Given the description of an element on the screen output the (x, y) to click on. 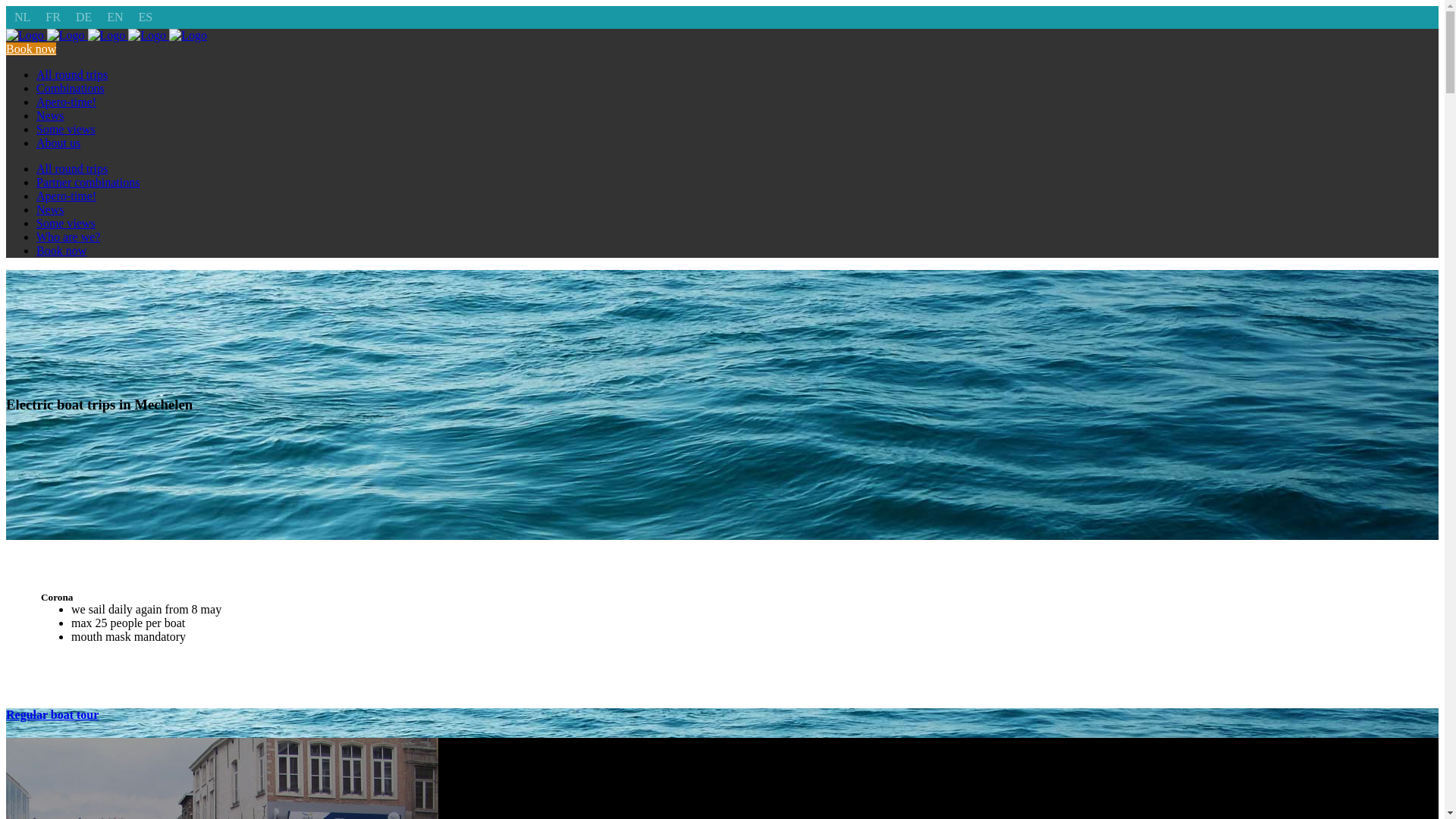
Some views Element type: text (65, 222)
Who are we? Element type: text (68, 236)
Some views Element type: text (65, 128)
About us Element type: text (58, 142)
News Element type: text (49, 115)
News Element type: text (49, 209)
Apero-time! Element type: text (66, 101)
Apero-time! Element type: text (66, 195)
Regular boat tour Element type: text (52, 714)
All round trips Element type: text (71, 74)
Book now Element type: text (61, 250)
EN Element type: text (114, 17)
DE Element type: text (83, 17)
Combinations Element type: text (70, 87)
ES Element type: text (145, 17)
Partner combinations Element type: text (87, 181)
Book now Element type: text (31, 48)
All round trips Element type: text (71, 168)
NL Element type: text (21, 17)
FR Element type: text (52, 17)
